Given the description of an element on the screen output the (x, y) to click on. 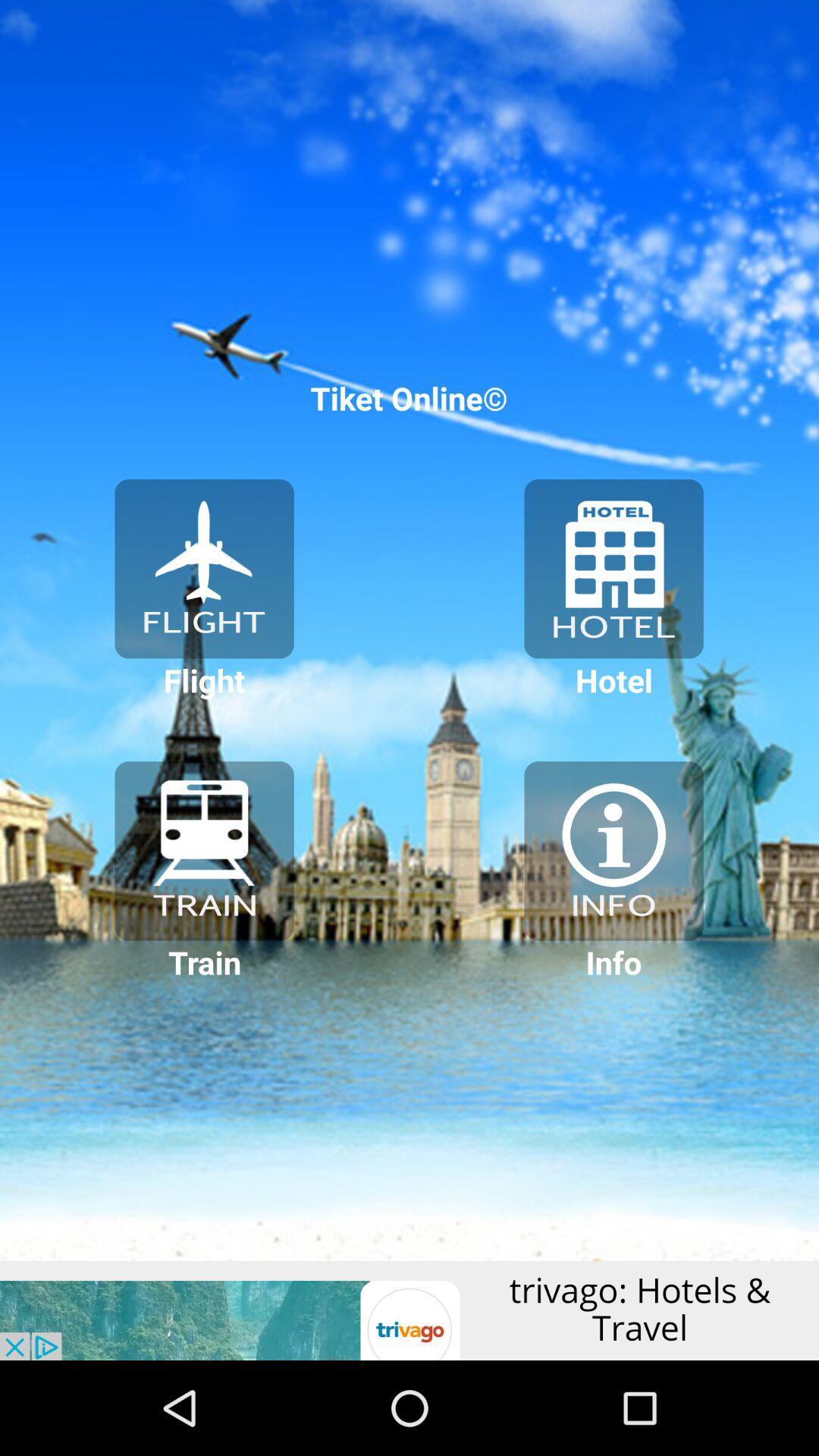
select hotel (613, 568)
